Given the description of an element on the screen output the (x, y) to click on. 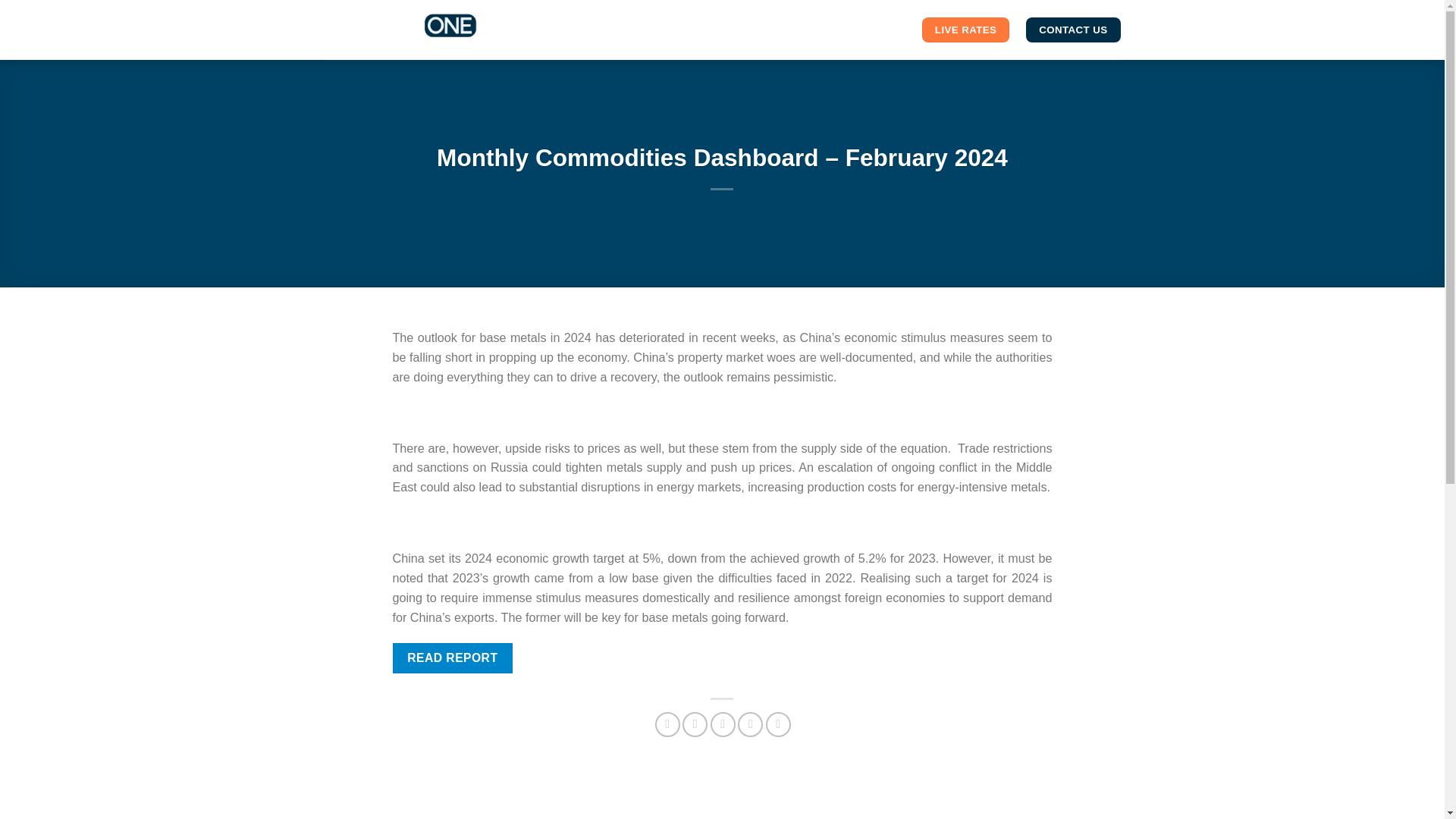
Share on Facebook (667, 724)
ABOUT US (878, 17)
SERVICES (726, 17)
READ REPORT (453, 657)
Share on Twitter (694, 724)
Email to a Friend (722, 724)
CLIENTS (801, 17)
LIVE RATES (965, 30)
CONTACT US (1072, 30)
Pin on Pinterest (750, 724)
